Given the description of an element on the screen output the (x, y) to click on. 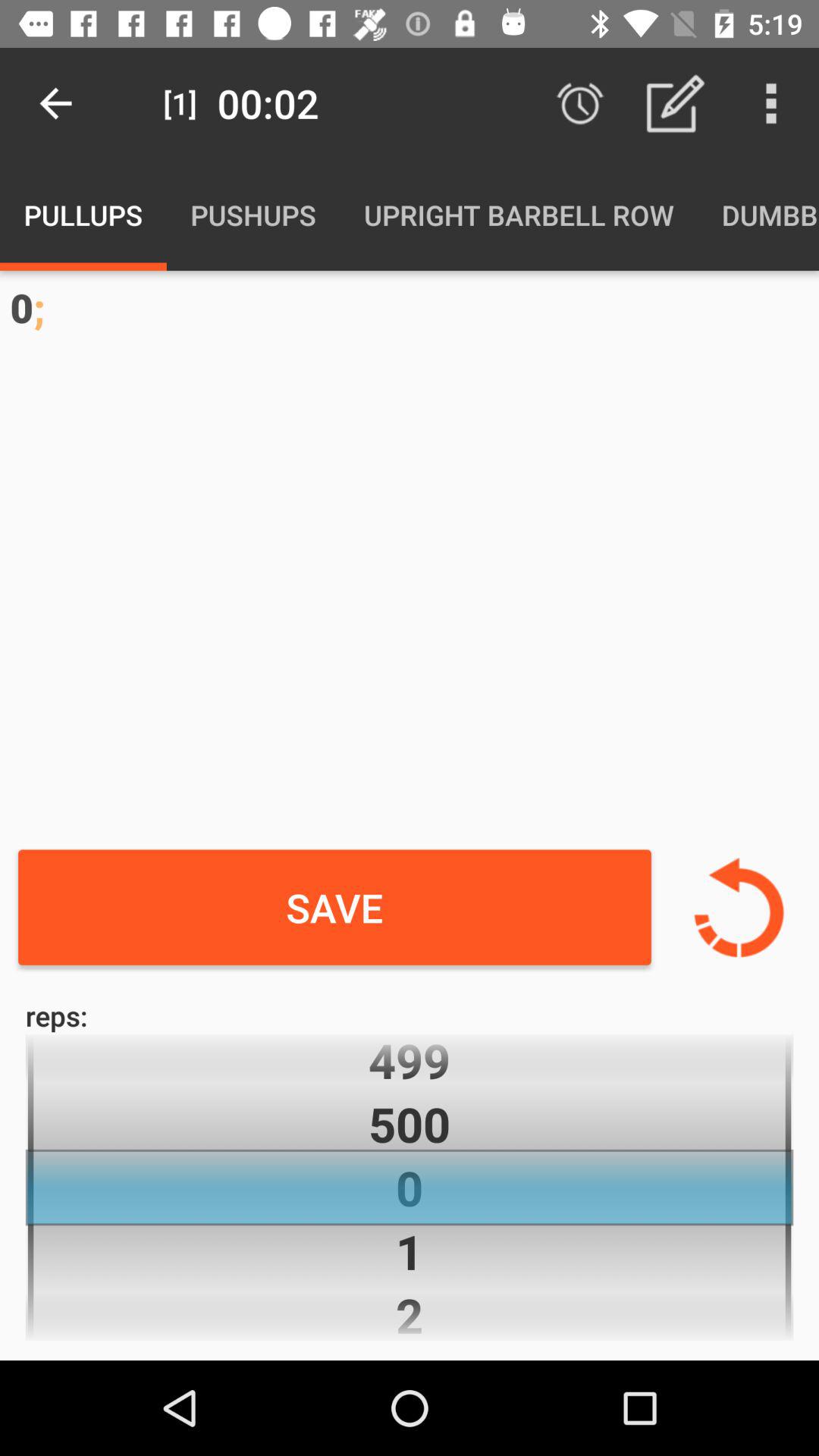
refresh reps (738, 907)
